Given the description of an element on the screen output the (x, y) to click on. 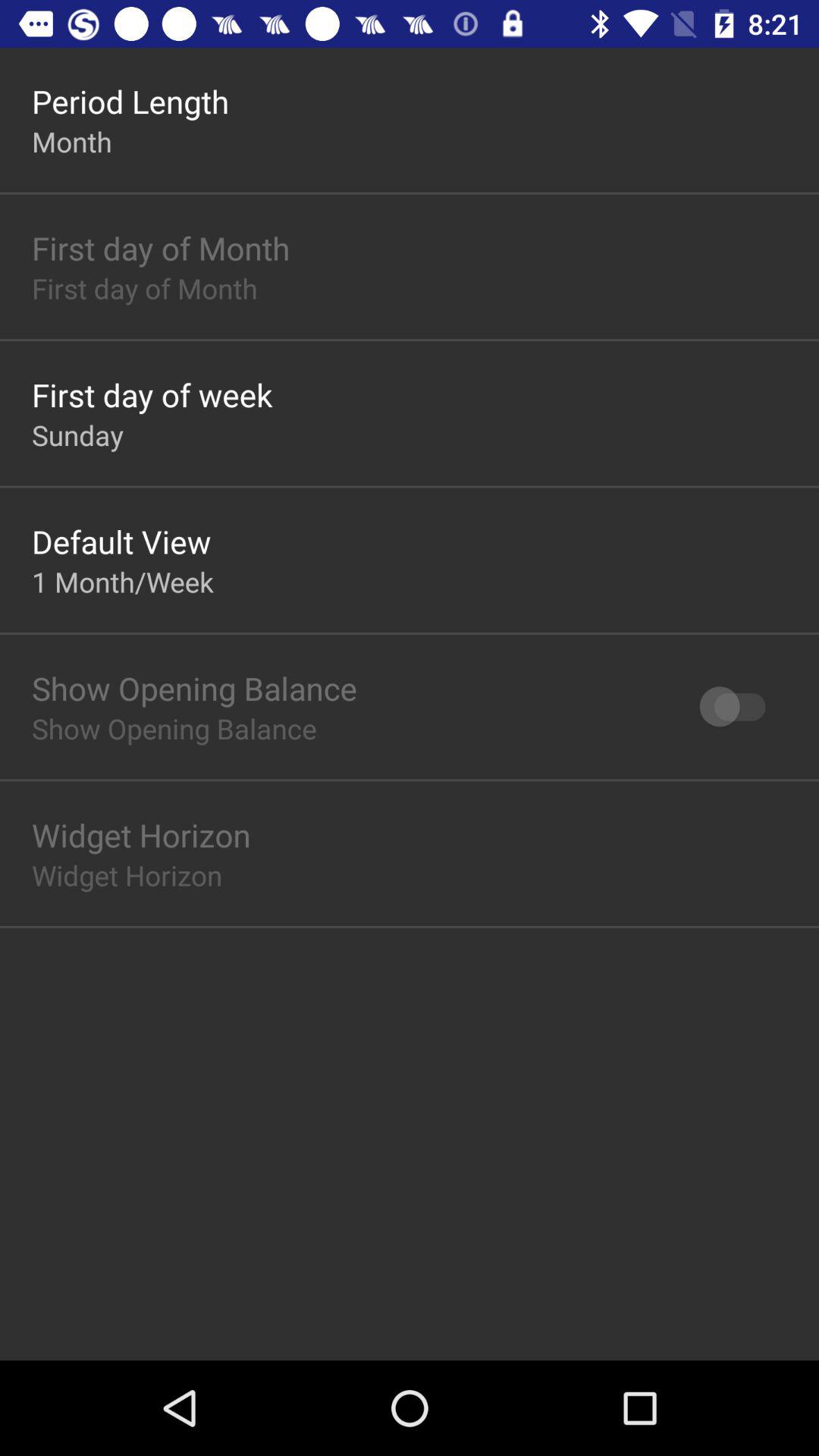
swipe to period length app (130, 100)
